Given the description of an element on the screen output the (x, y) to click on. 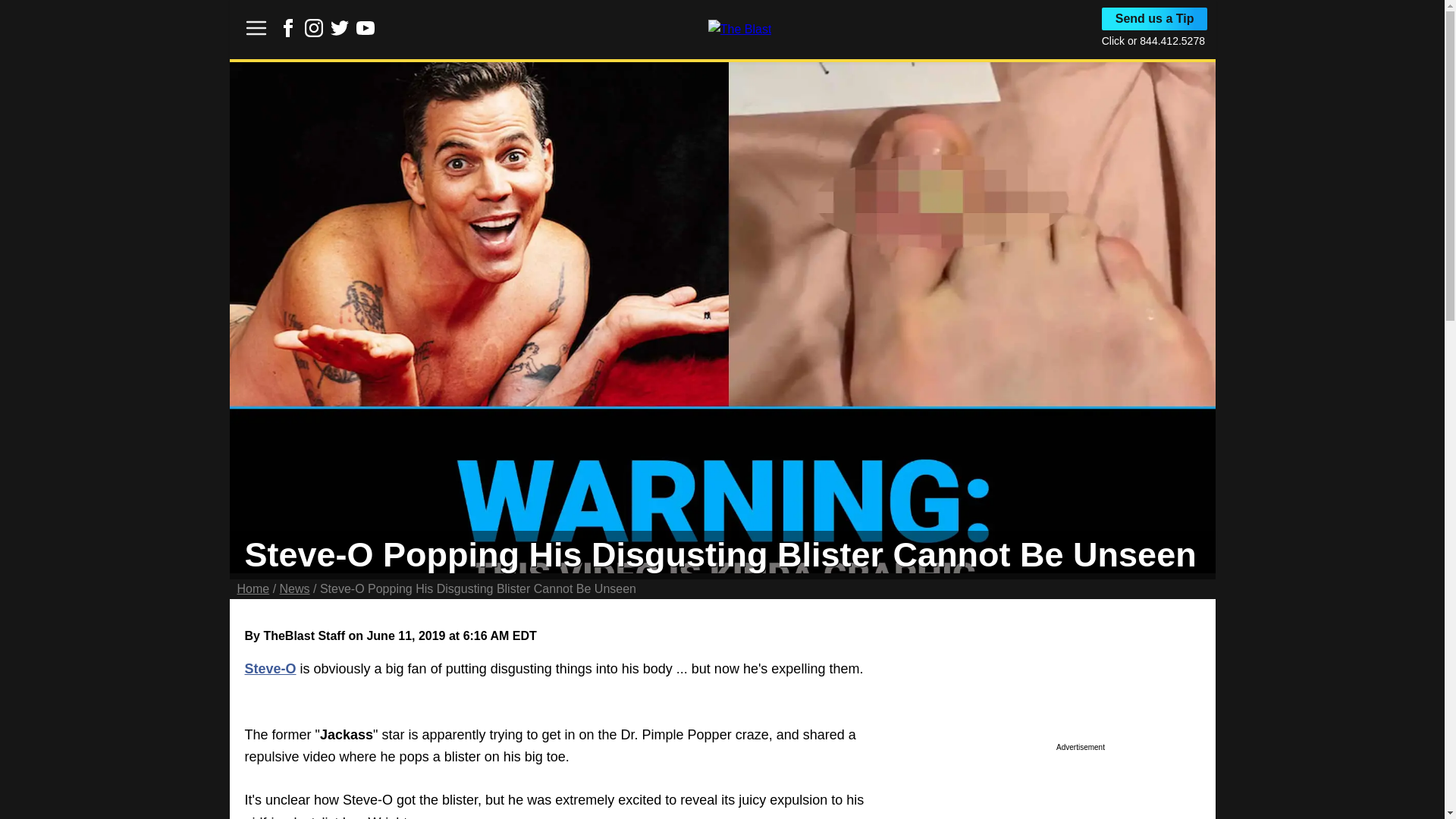
Link to Twitter (339, 31)
Link to Youtube (365, 27)
Link to Twitter (339, 27)
Link to Instagram (313, 27)
Click or 844.412.5278 (1153, 40)
TheBlast Staff (304, 635)
Link to Instagram (313, 31)
Steve-O (269, 668)
Send us a Tip (1155, 18)
Link to Youtube (365, 31)
Home (252, 588)
Link to Facebook (288, 31)
News (294, 588)
Link to Facebook (288, 27)
